Given the description of an element on the screen output the (x, y) to click on. 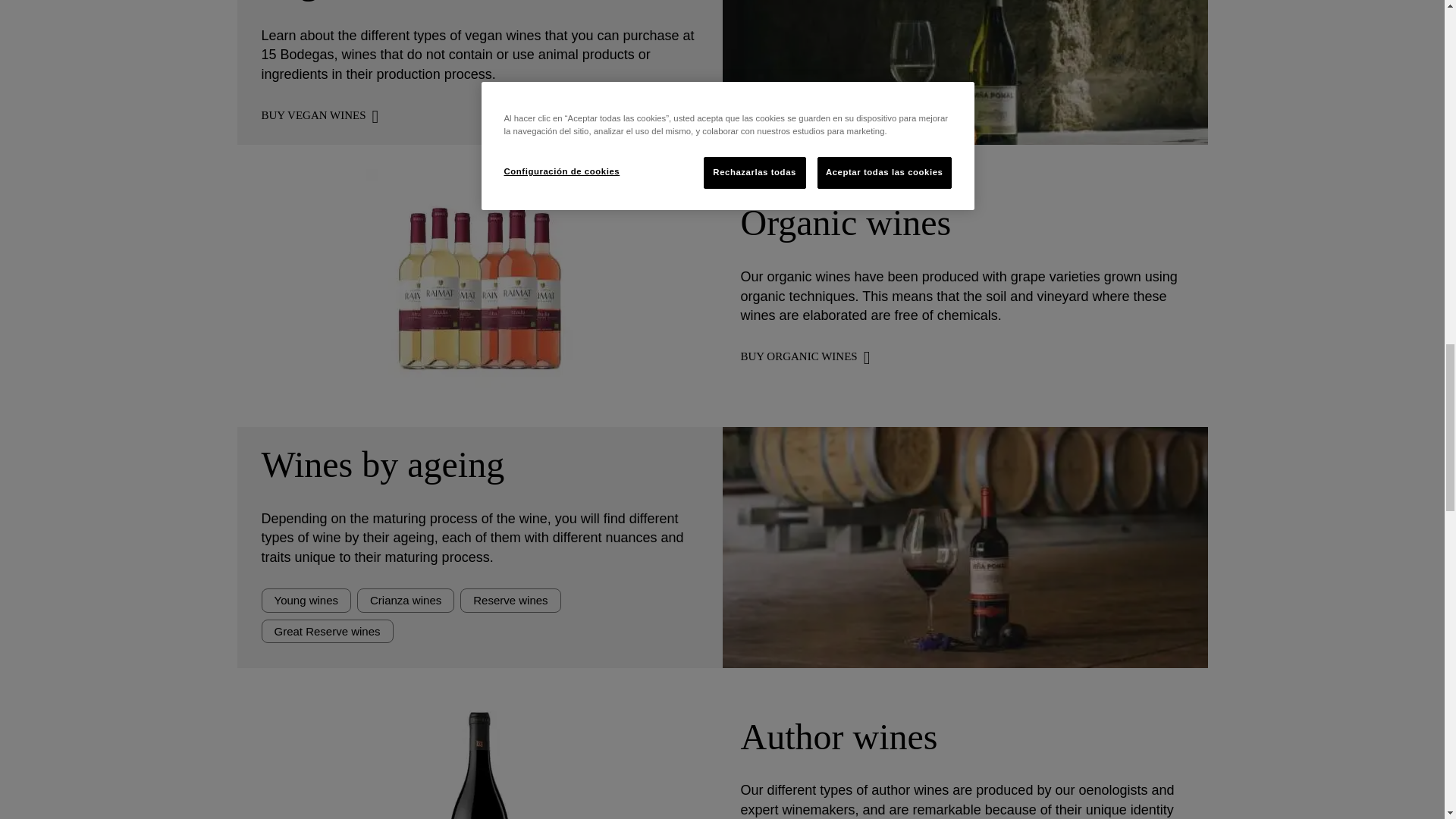
Raimat sparkling wine pack (478, 282)
Olmedillo de Roa (478, 755)
Raimat sparkling wine pack (478, 391)
